Given the description of an element on the screen output the (x, y) to click on. 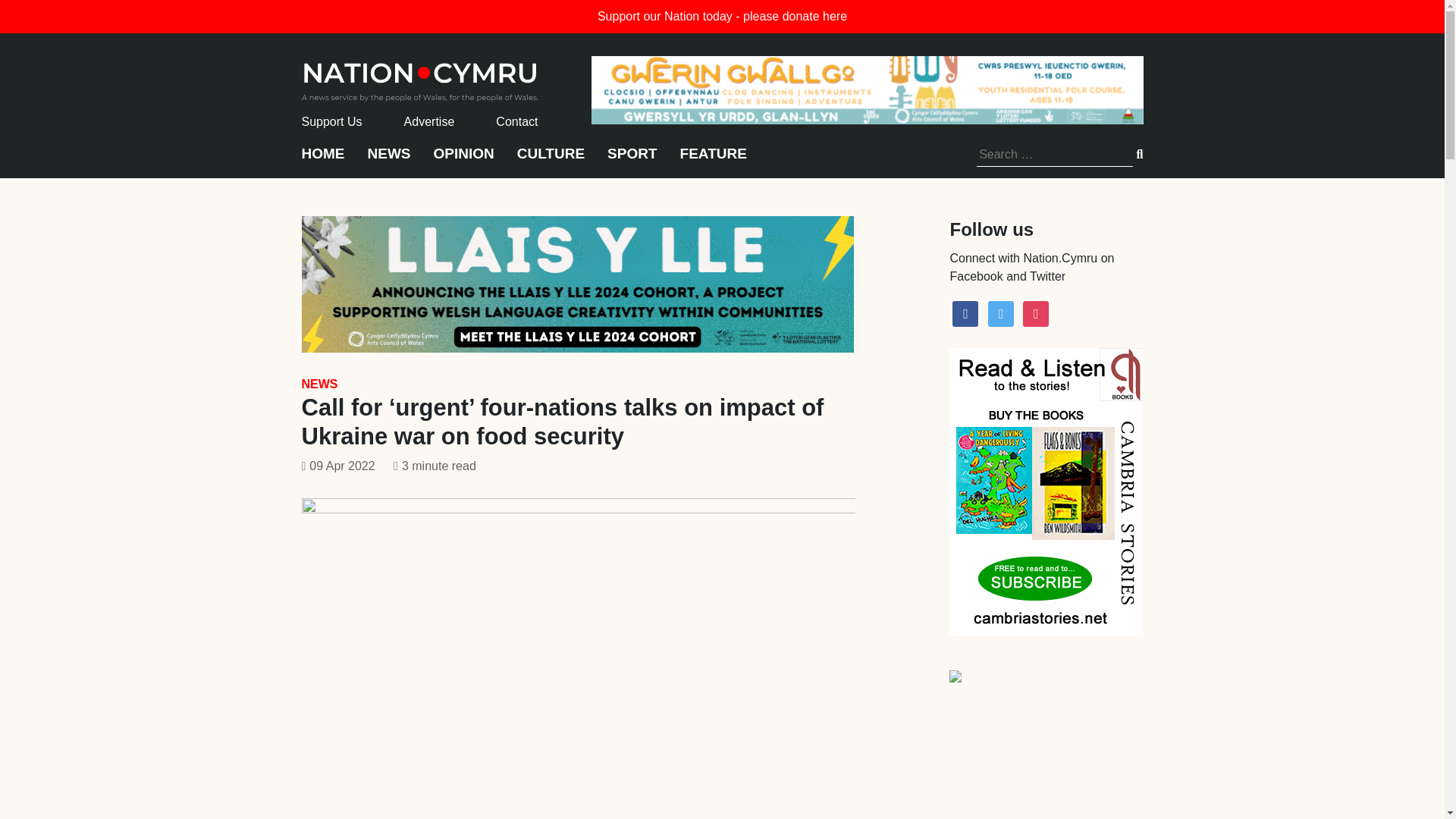
NEWS (319, 383)
Support Us (331, 121)
SPORT (631, 160)
OPINION (464, 160)
FEATURE (712, 160)
Advertise (429, 121)
Contact (516, 121)
CULTURE (550, 160)
NEWS (388, 160)
home (419, 77)
